Given the description of an element on the screen output the (x, y) to click on. 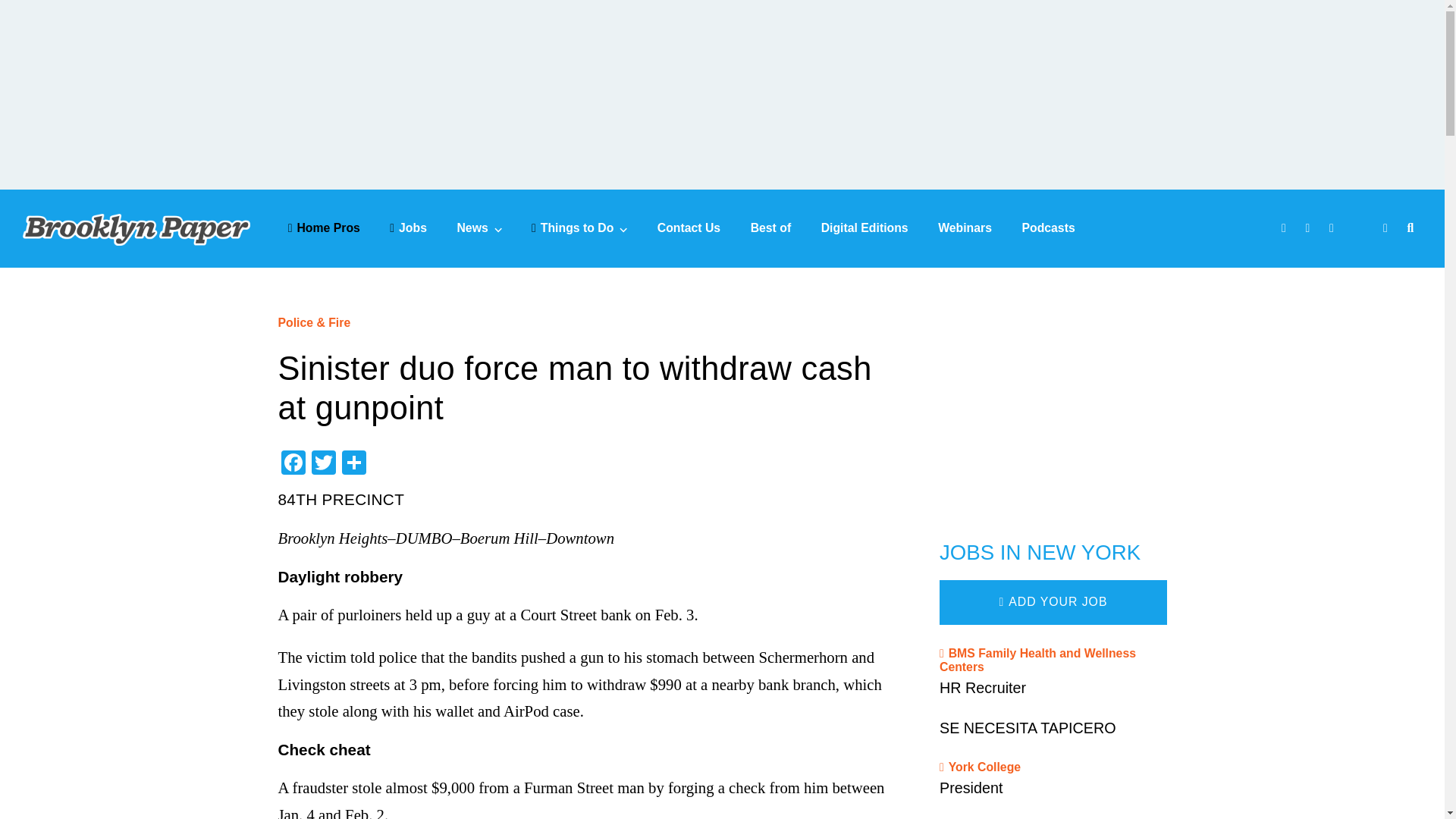
Best of (771, 227)
Contact Us (689, 227)
Home Pros (323, 227)
Jobs (408, 227)
News (478, 227)
Webinars (964, 227)
Podcasts (1048, 227)
Facebook (292, 464)
Digital Editions (864, 227)
Twitter (322, 464)
Things to Do (579, 227)
